Given the description of an element on the screen output the (x, y) to click on. 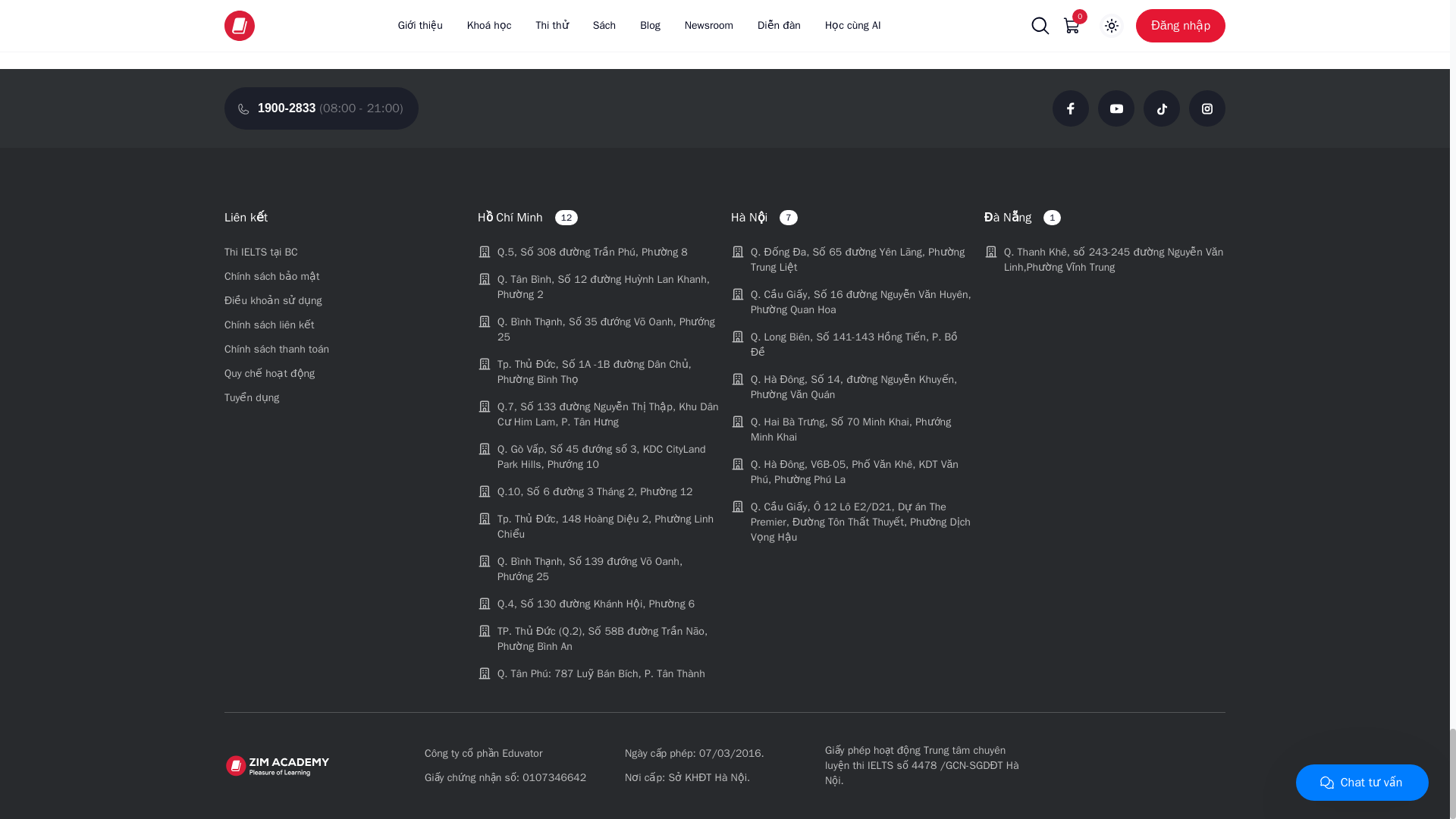
DMCA.com Protection Status (1109, 765)
